Given the description of an element on the screen output the (x, y) to click on. 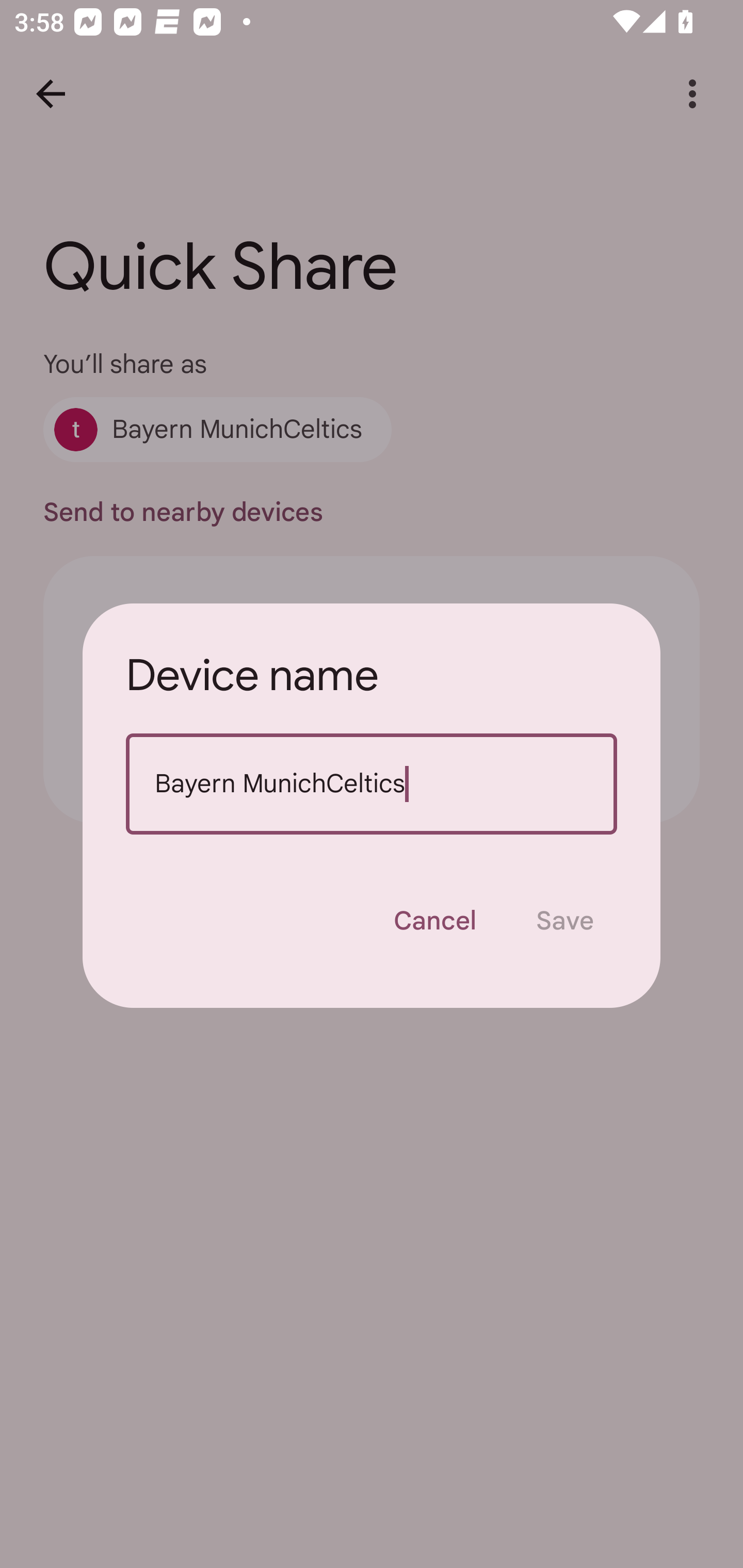
Bayern MunichCeltics Device name (371, 783)
Cancel (434, 921)
Save (564, 921)
